Given the description of an element on the screen output the (x, y) to click on. 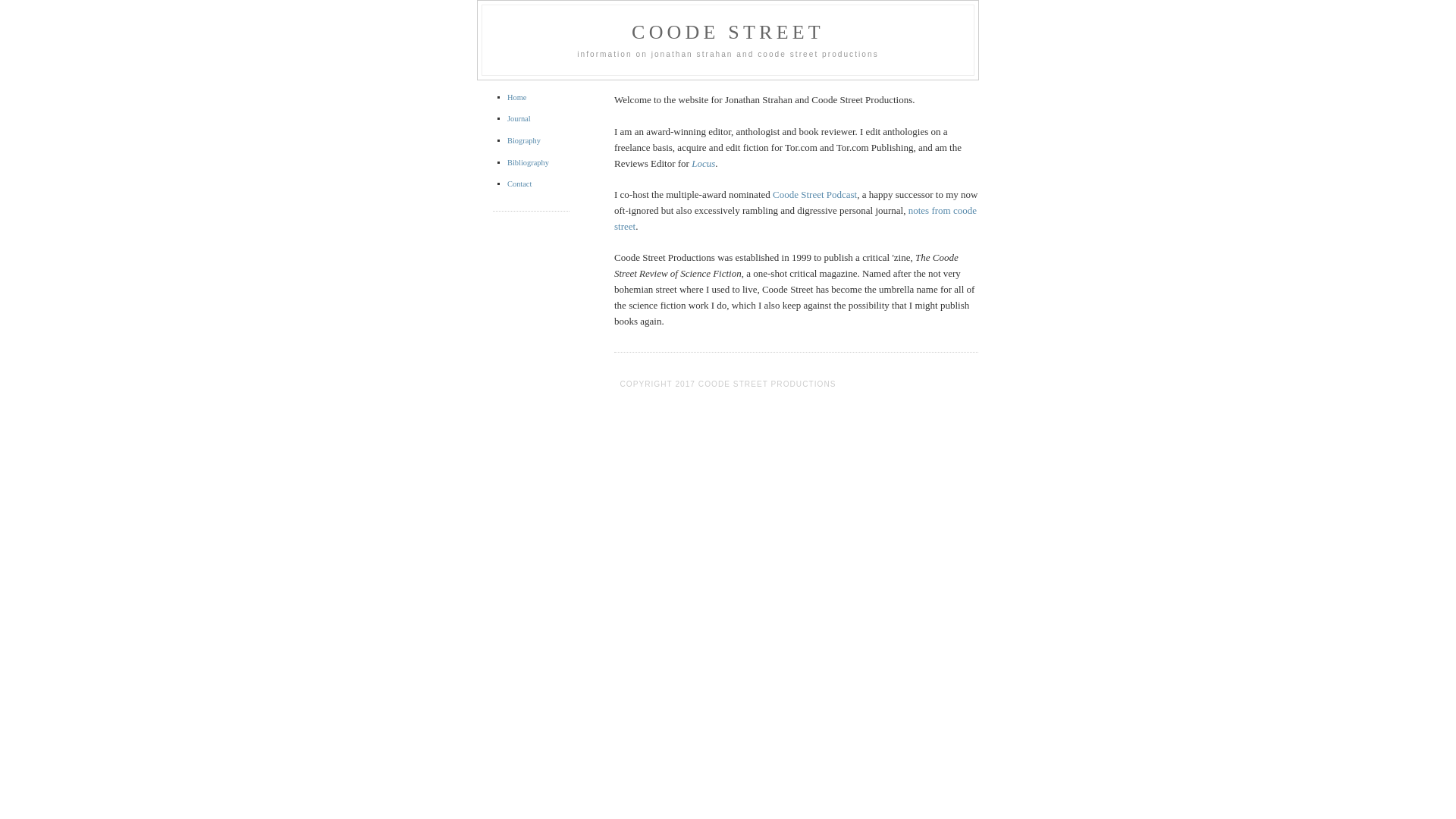
Home Element type: text (516, 97)
Biography Element type: text (523, 140)
Locus Element type: text (703, 163)
Journal Element type: text (518, 118)
Coode Street Podcast Element type: text (814, 194)
Bibliography Element type: text (528, 162)
notes from coode street Element type: text (795, 218)
Contact Element type: text (519, 183)
